Given the description of an element on the screen output the (x, y) to click on. 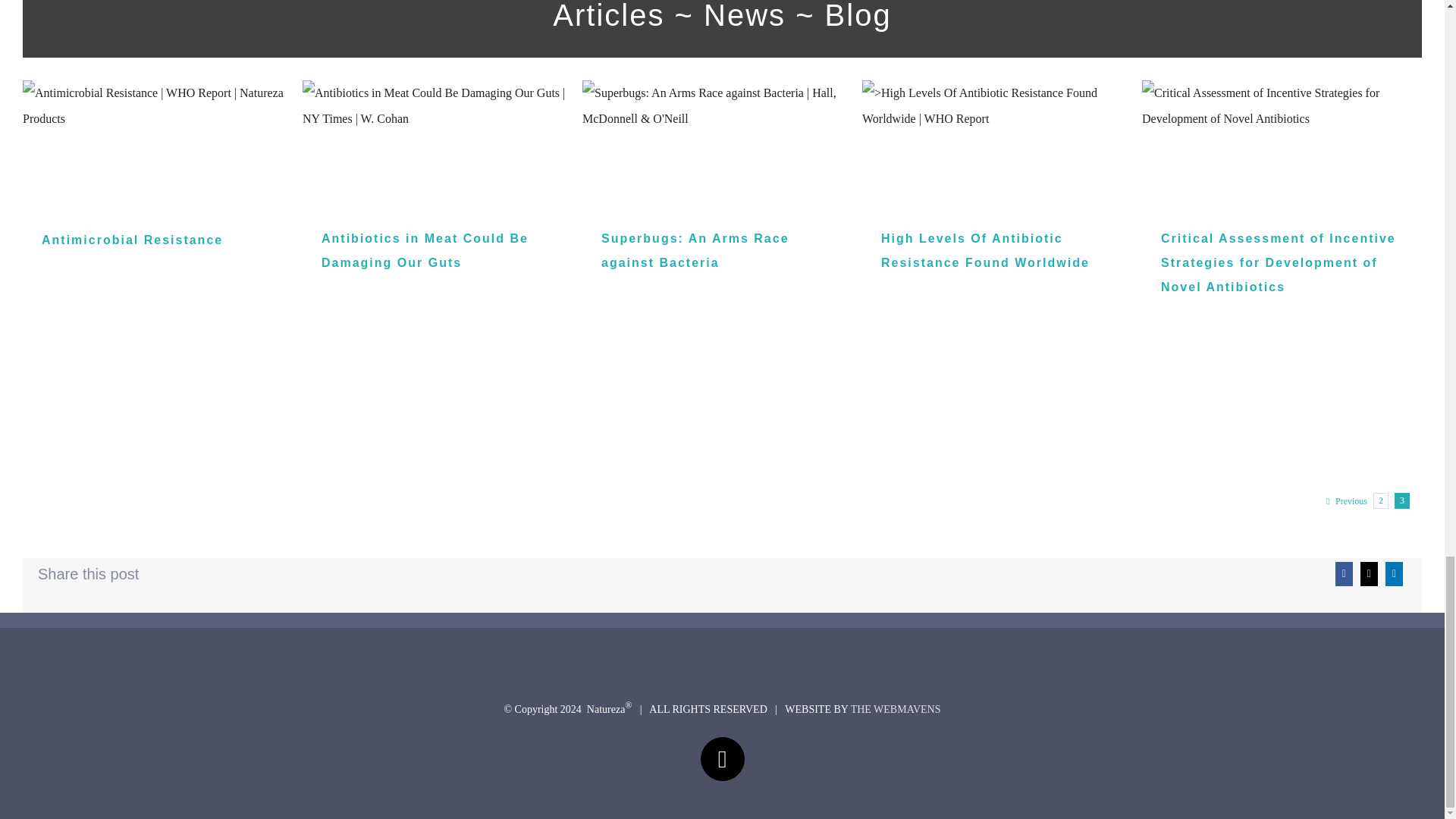
Antimicrobial Resistance (132, 239)
Antibiotics in Meat Could Be Damaging Our Guts (424, 250)
Superbugs: An Arms Race against Bacteria (695, 250)
X (722, 759)
High Levels Of Antibiotic Resistance Found Worldwide (984, 250)
